Given the description of an element on the screen output the (x, y) to click on. 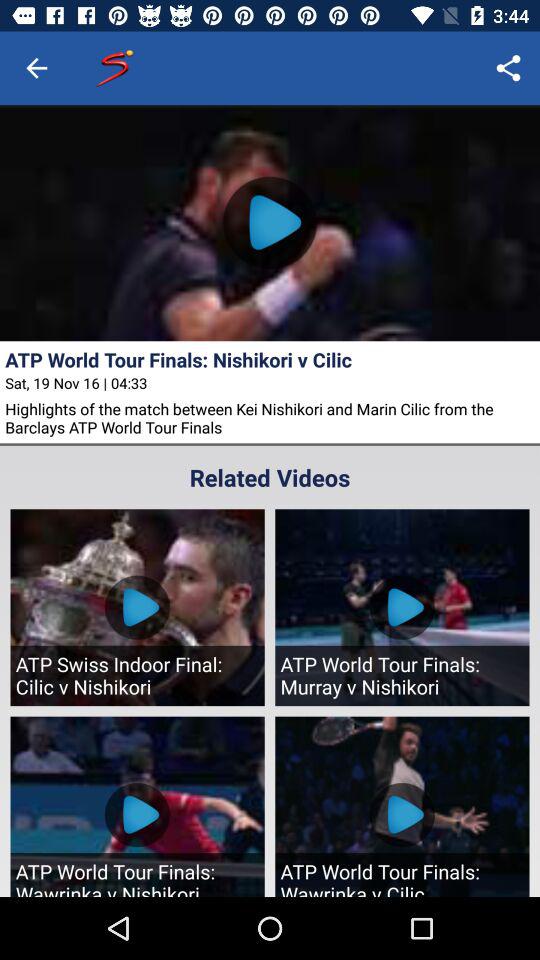
select the play button in first image of bottom row (137, 814)
select the blue button in the second row second video which is under related videos (401, 814)
select the first video below related videos (137, 606)
click icon to play the videos (269, 222)
click on the image which is at bottom right corner (401, 806)
go to second option in first row under related videos (401, 606)
